Given the description of an element on the screen output the (x, y) to click on. 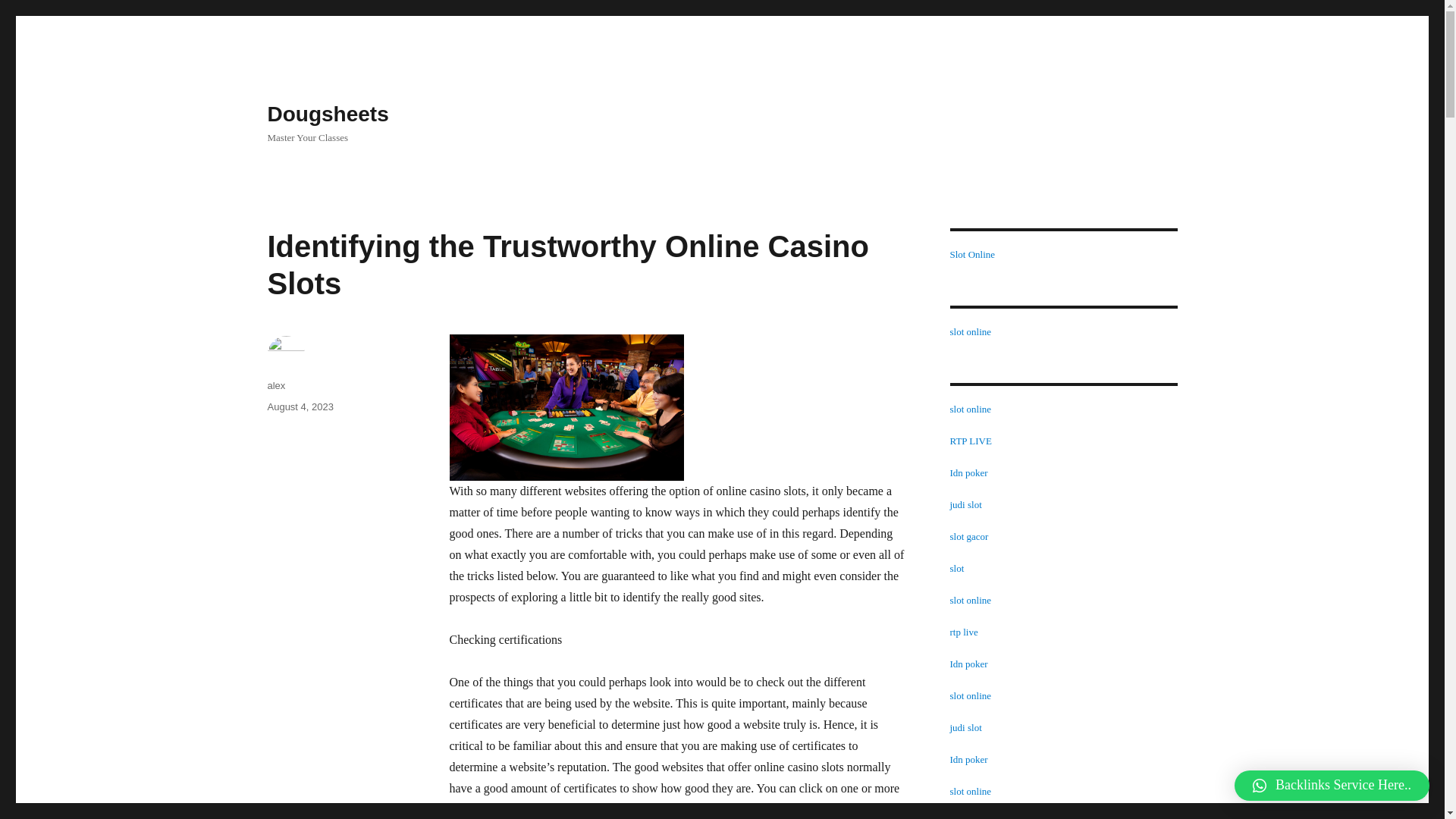
alex (275, 385)
slot online (970, 790)
Idn poker (968, 758)
slot online (970, 331)
slot gacor (968, 817)
slot online (970, 408)
slot (956, 568)
August 4, 2023 (299, 406)
Idn poker (968, 663)
RTP LIVE (970, 440)
Idn poker (968, 472)
slot online (970, 695)
rtp live (962, 632)
judi slot (965, 504)
Slot Online (971, 254)
